Given the description of an element on the screen output the (x, y) to click on. 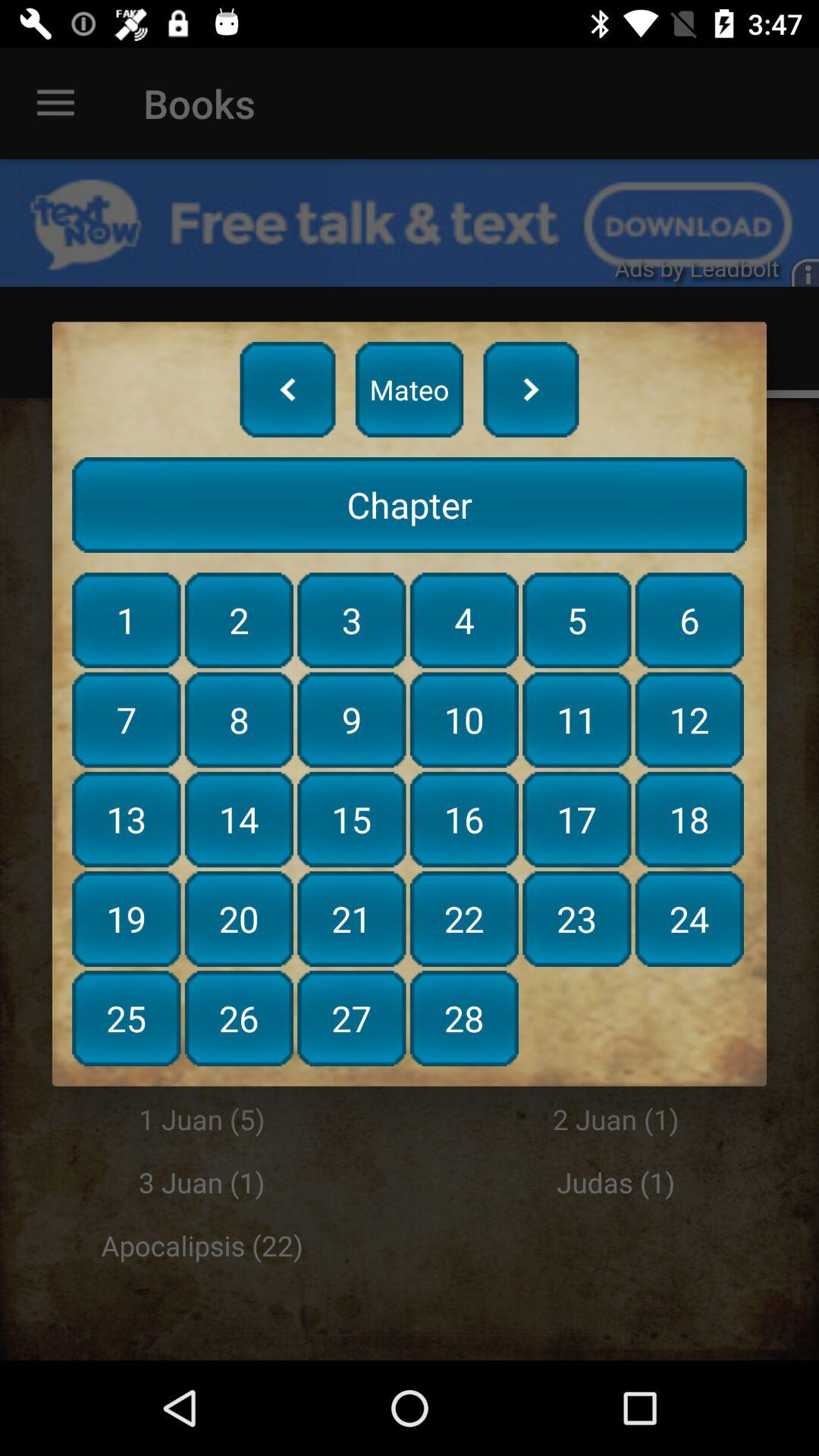
page forward (530, 389)
